Given the description of an element on the screen output the (x, y) to click on. 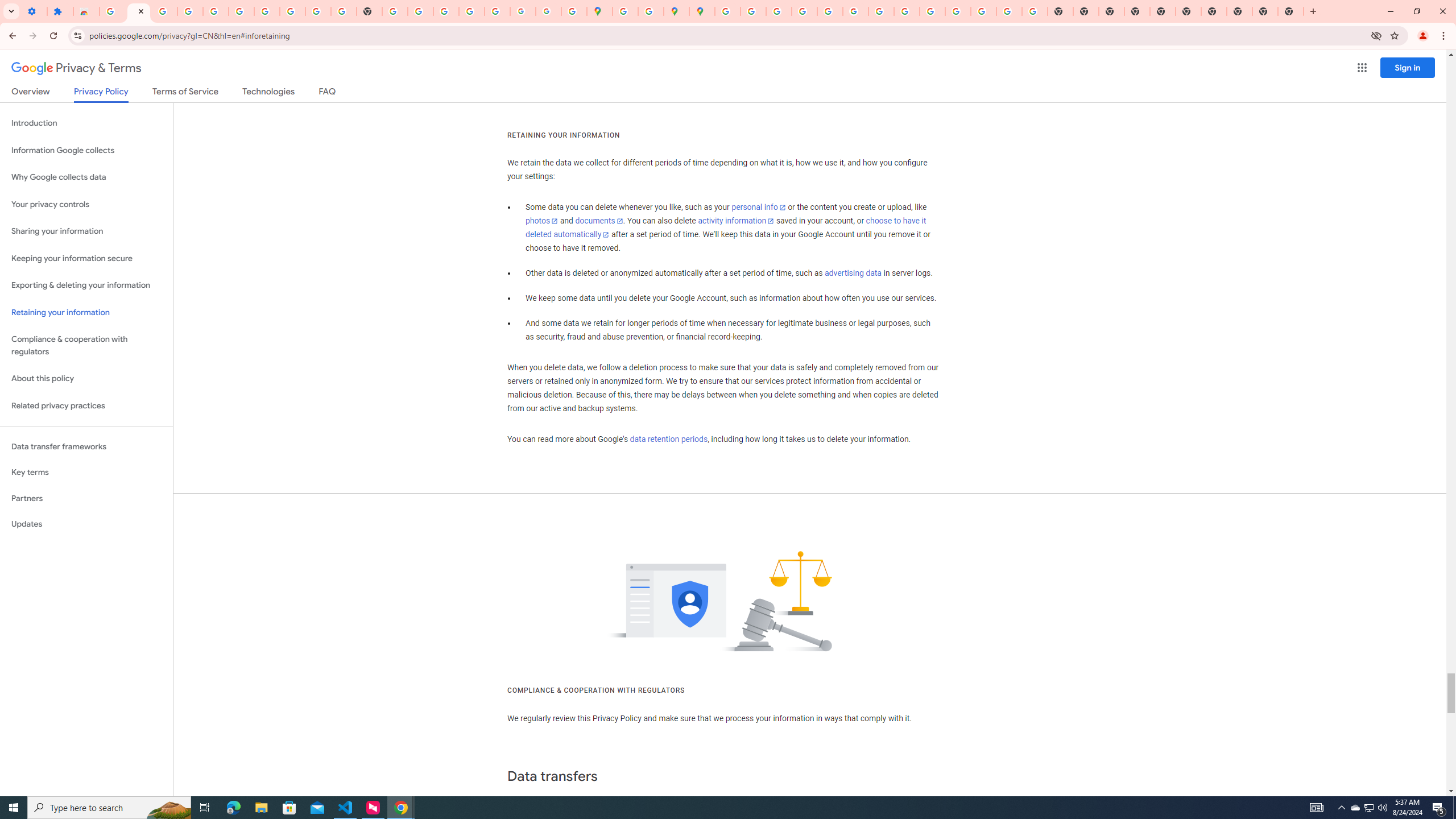
Google Maps (599, 11)
About this policy (86, 379)
Delete photos & videos - Computer - Google Photos Help (164, 11)
advertising data (852, 273)
Google Account (292, 11)
Privacy Help Center - Policies Help (804, 11)
Privacy Help Center - Policies Help (778, 11)
personal info (758, 207)
documents (599, 221)
